Given the description of an element on the screen output the (x, y) to click on. 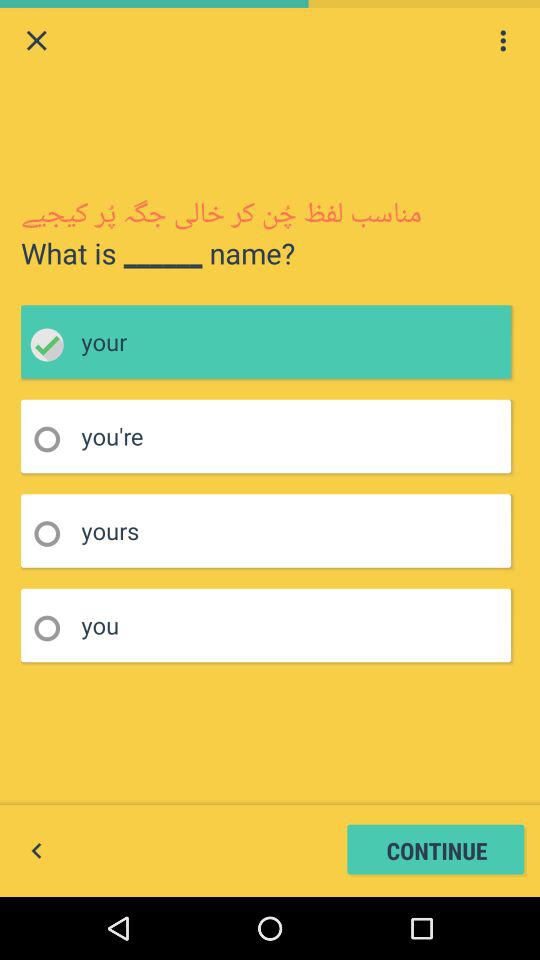
option button (53, 533)
